Given the description of an element on the screen output the (x, y) to click on. 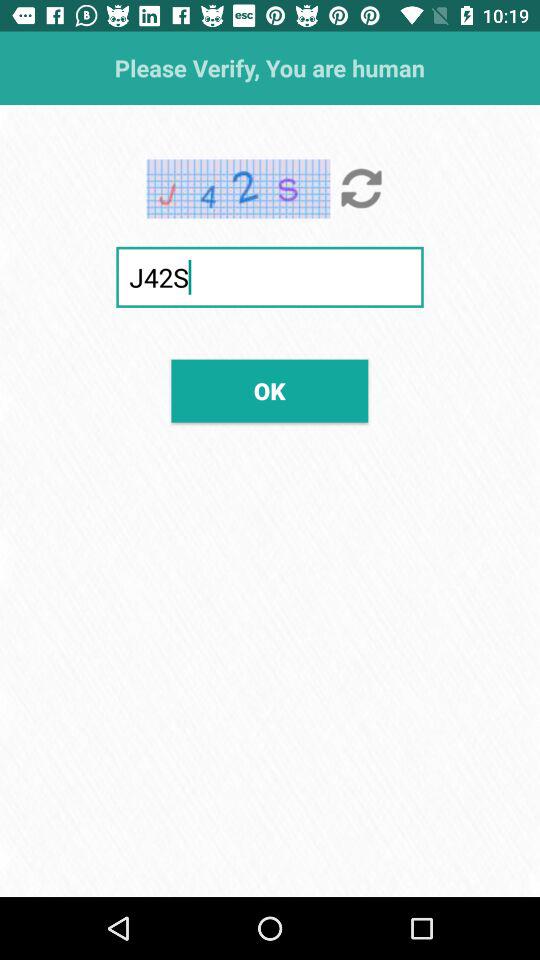
click the item at the center (269, 390)
